Given the description of an element on the screen output the (x, y) to click on. 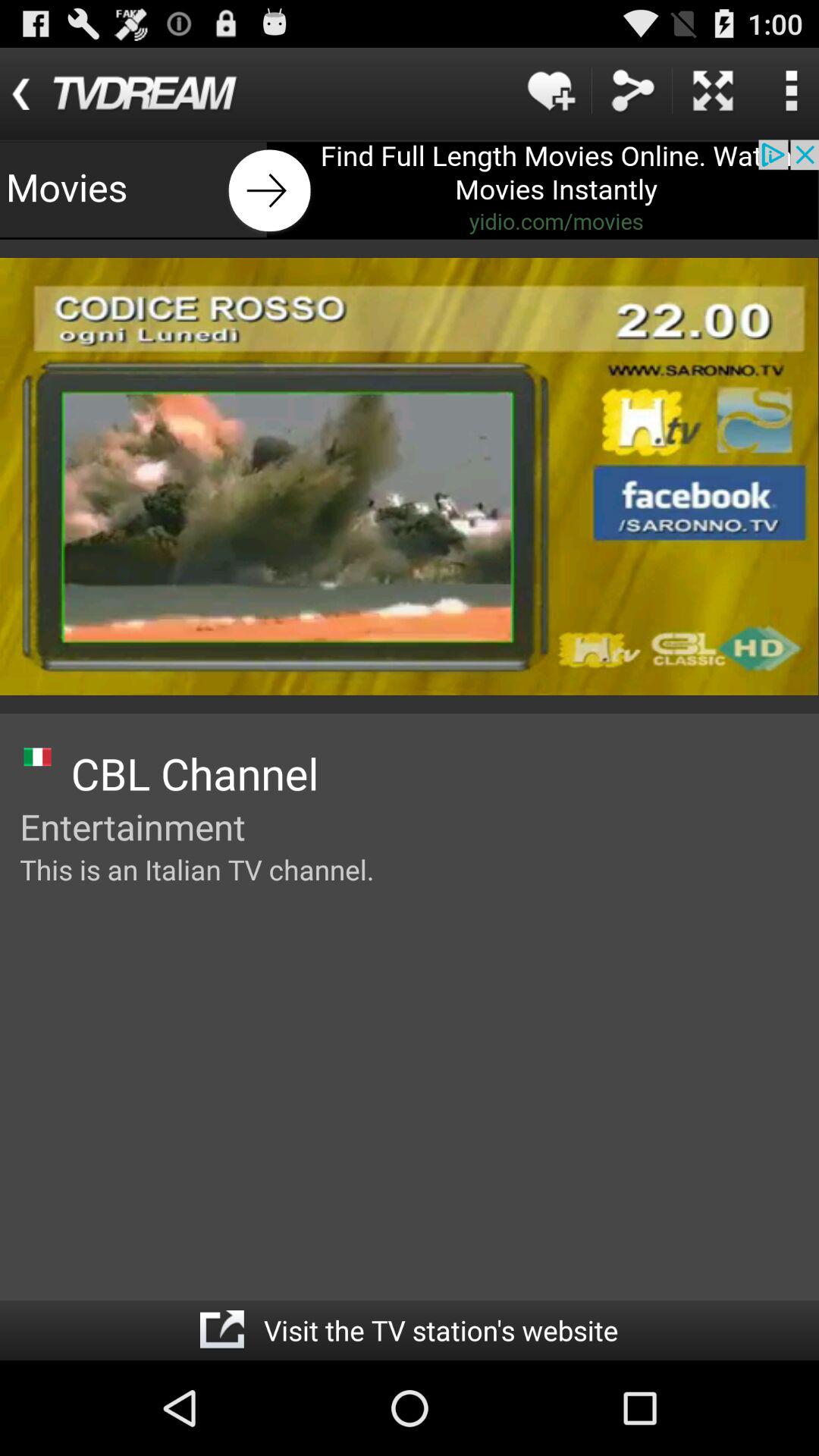
movies advertisement (409, 189)
